Given the description of an element on the screen output the (x, y) to click on. 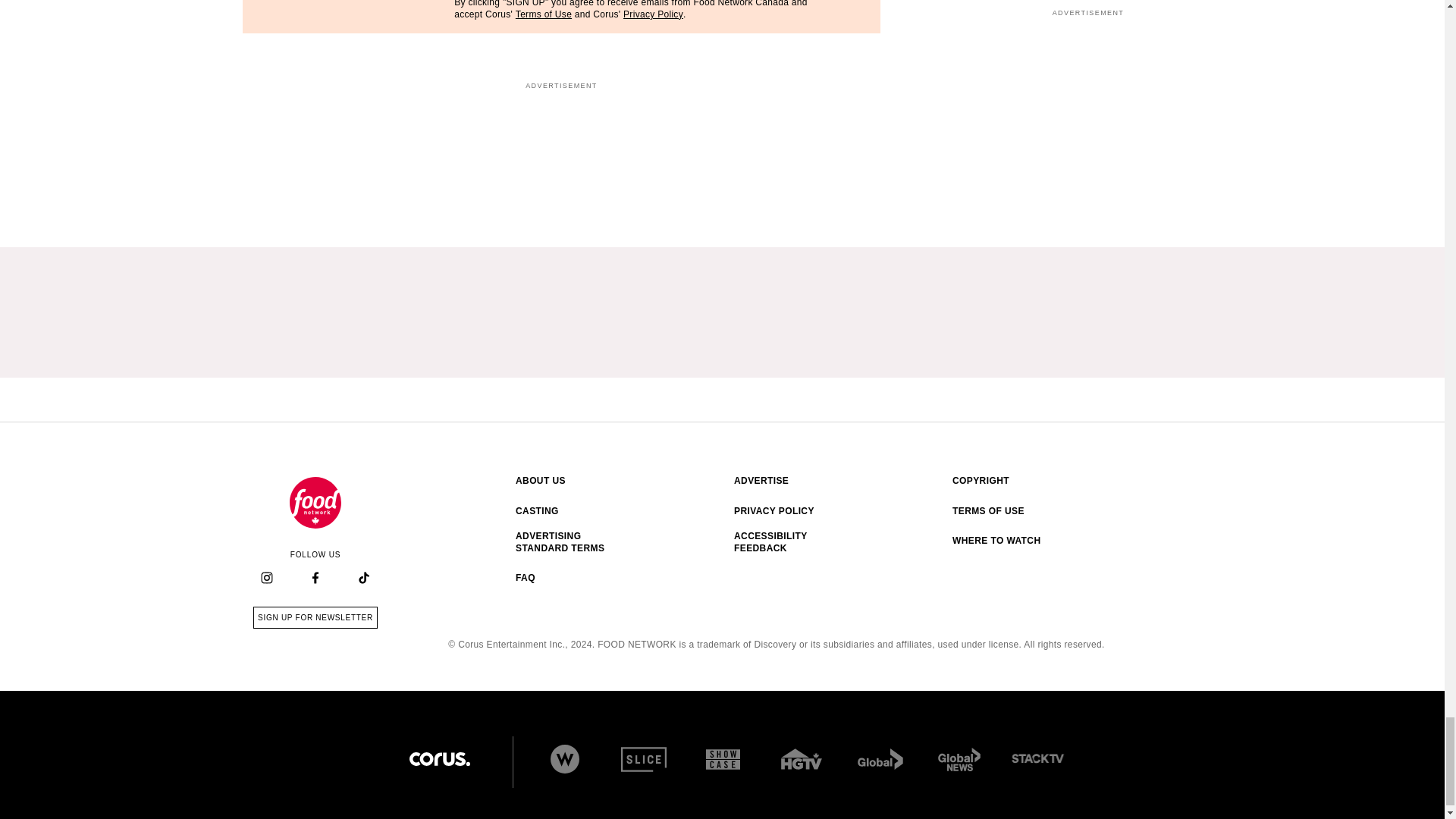
Follow Food Network Canada on Instagram (267, 579)
Follow Food Network Canada on Facebook (315, 579)
Food Network Canada home (314, 502)
Instagram (266, 577)
